Given the description of an element on the screen output the (x, y) to click on. 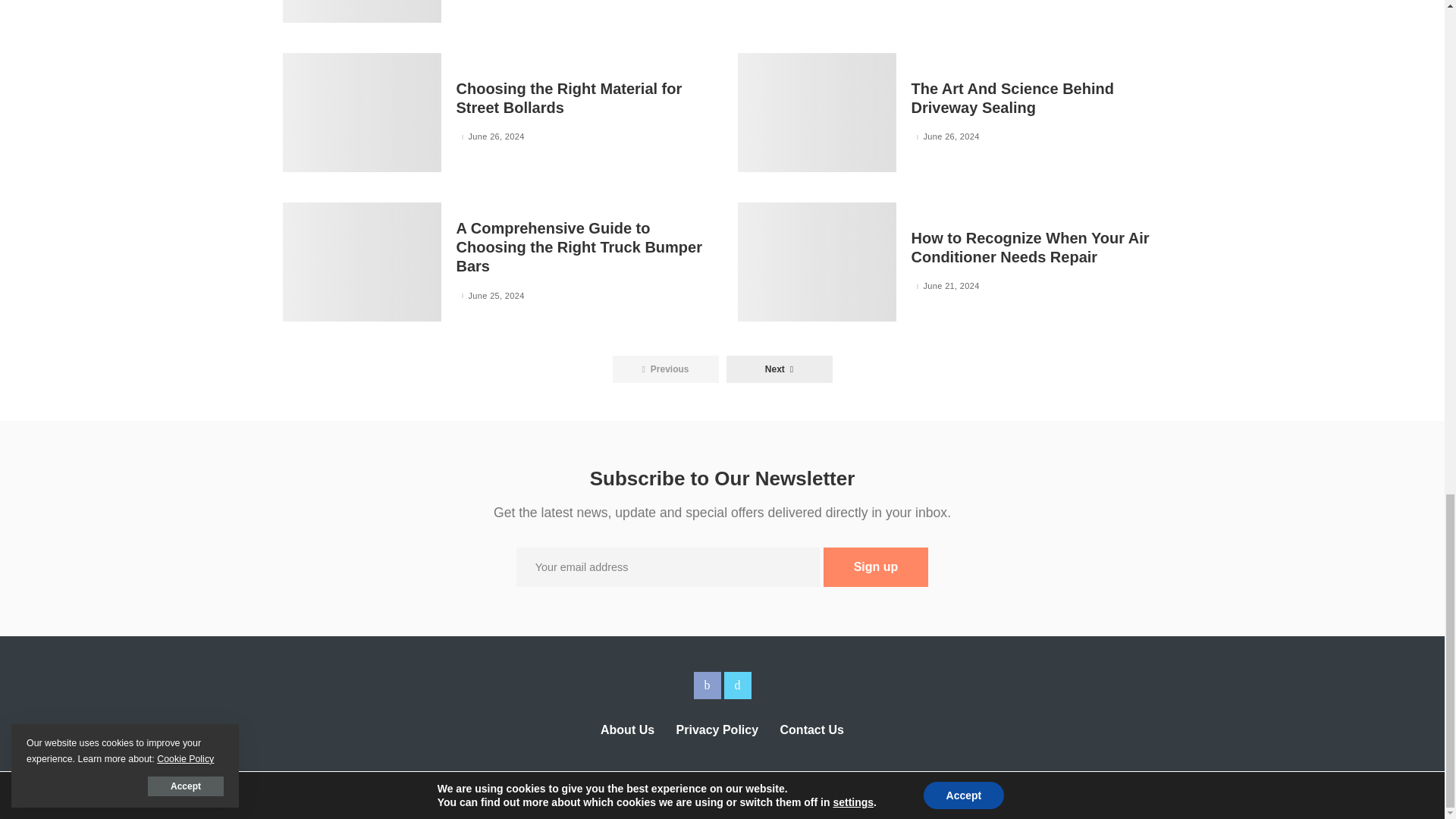
Sign up (876, 567)
